Given the description of an element on the screen output the (x, y) to click on. 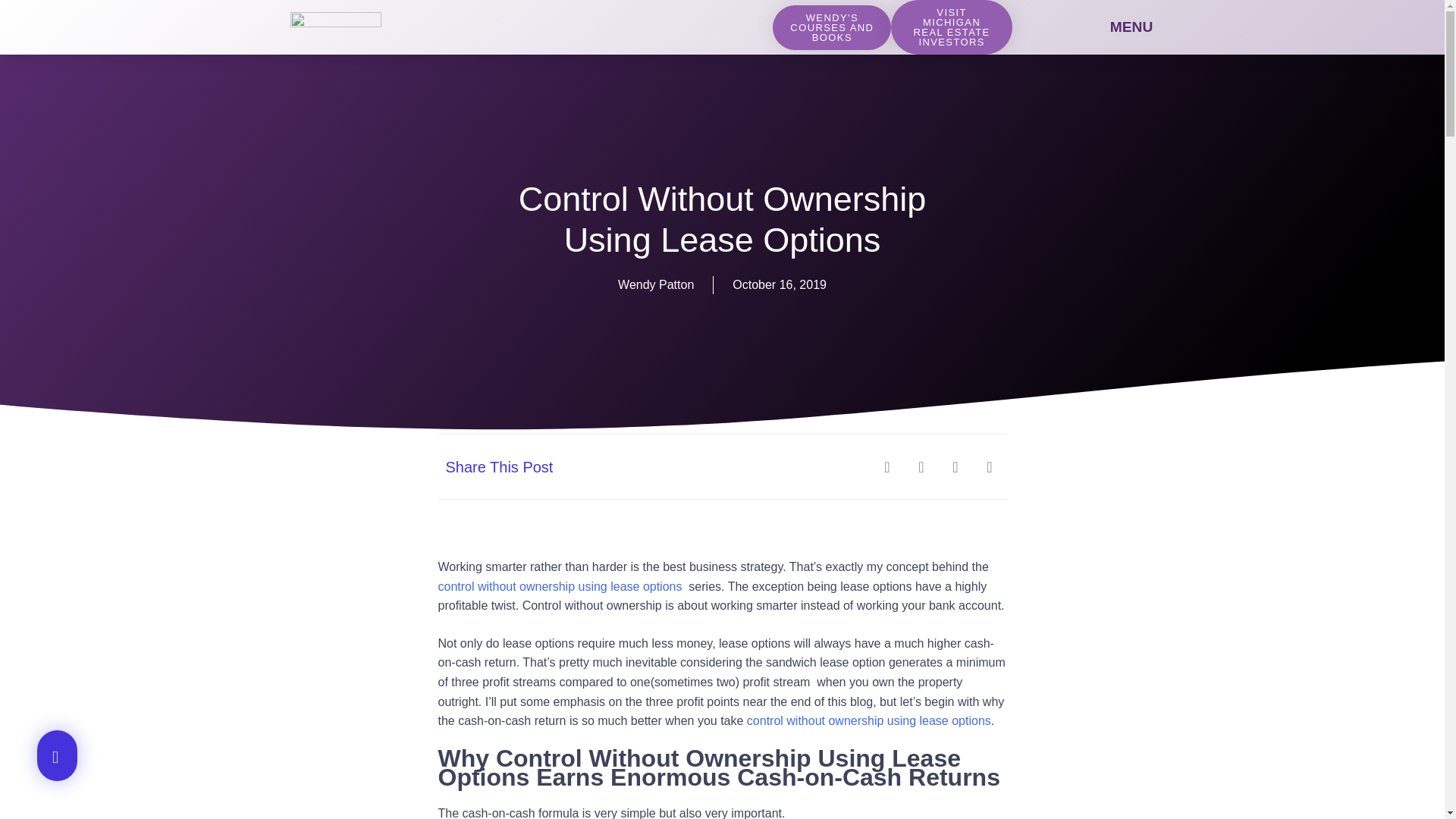
control without ownership using lease options (868, 720)
control without ownership using lease options (561, 585)
Wendy Patton (655, 285)
WENDY'S COURSES AND BOOKS (832, 26)
VISIT MICHIGAN REAL ESTATE INVESTORS (951, 27)
MENU (1131, 26)
October 16, 2019 (779, 285)
